Given the description of an element on the screen output the (x, y) to click on. 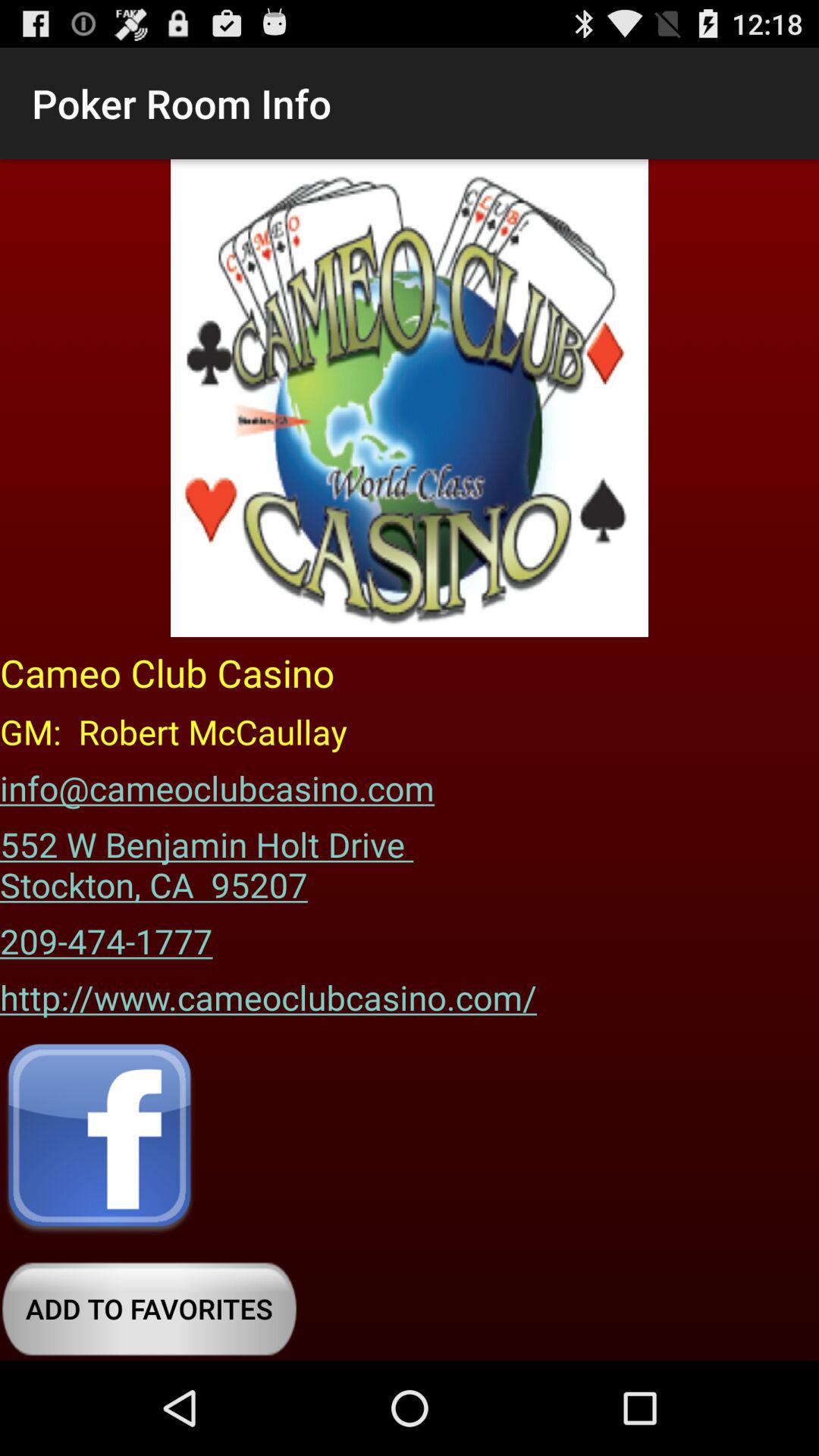
choose http www cameoclubcasino icon (268, 992)
